Given the description of an element on the screen output the (x, y) to click on. 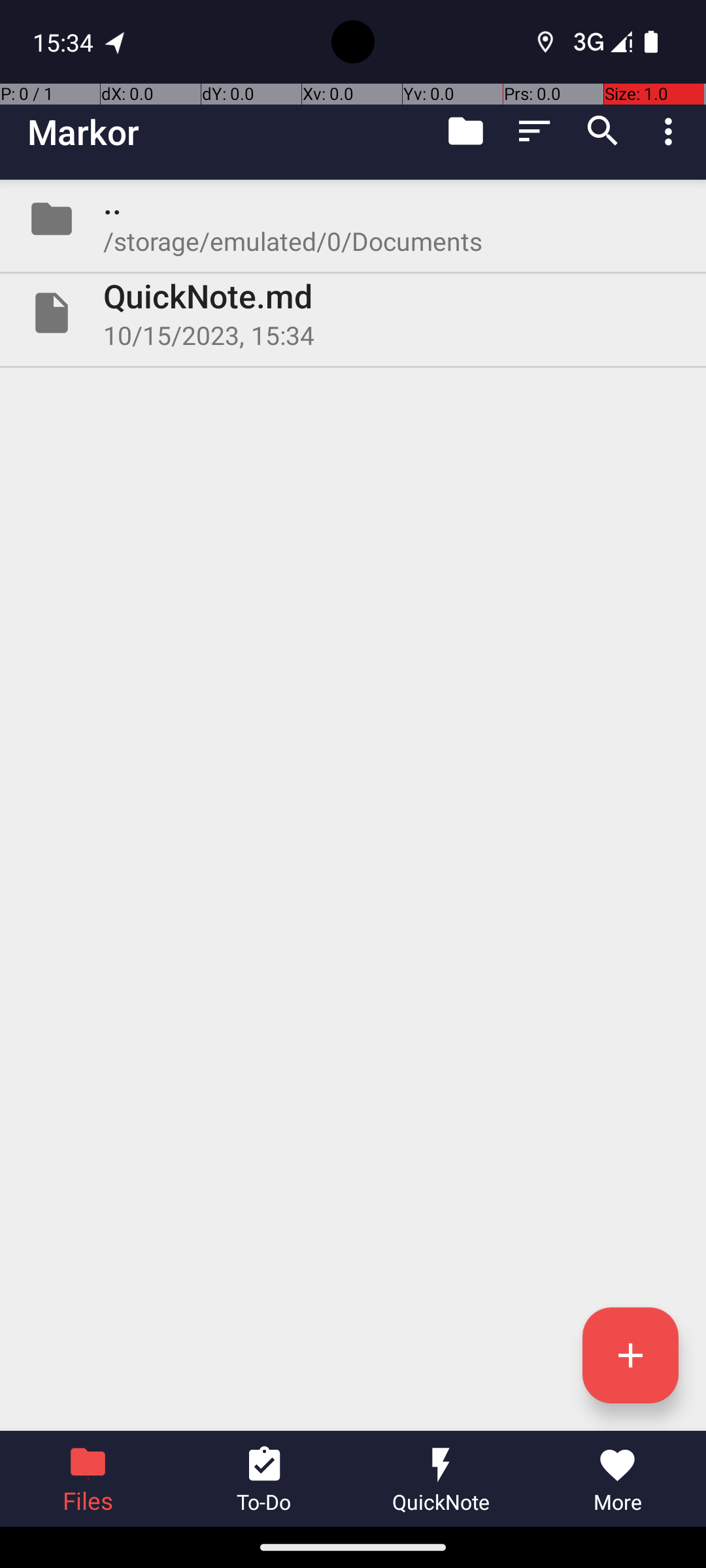
Folder .. /storage/emulated/0/Documents Element type: android.widget.LinearLayout (353, 218)
File QuickNote.md  Element type: android.widget.LinearLayout (353, 312)
